Given the description of an element on the screen output the (x, y) to click on. 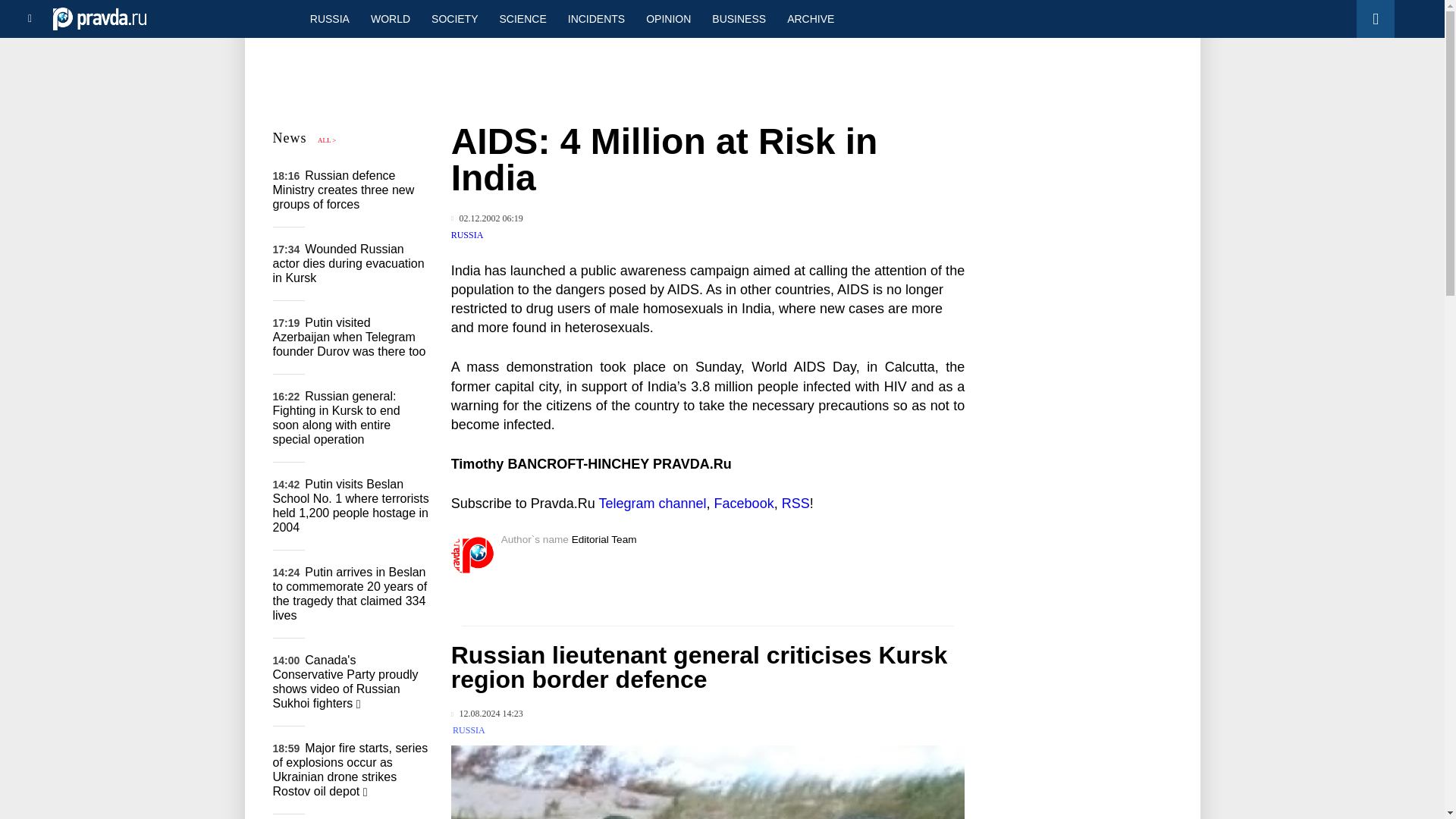
INCIDENTS (595, 18)
News (290, 137)
RSS (795, 503)
Russian general cracks down on Kursk defence line (708, 782)
Editorial Team (604, 539)
Published (486, 218)
